Given the description of an element on the screen output the (x, y) to click on. 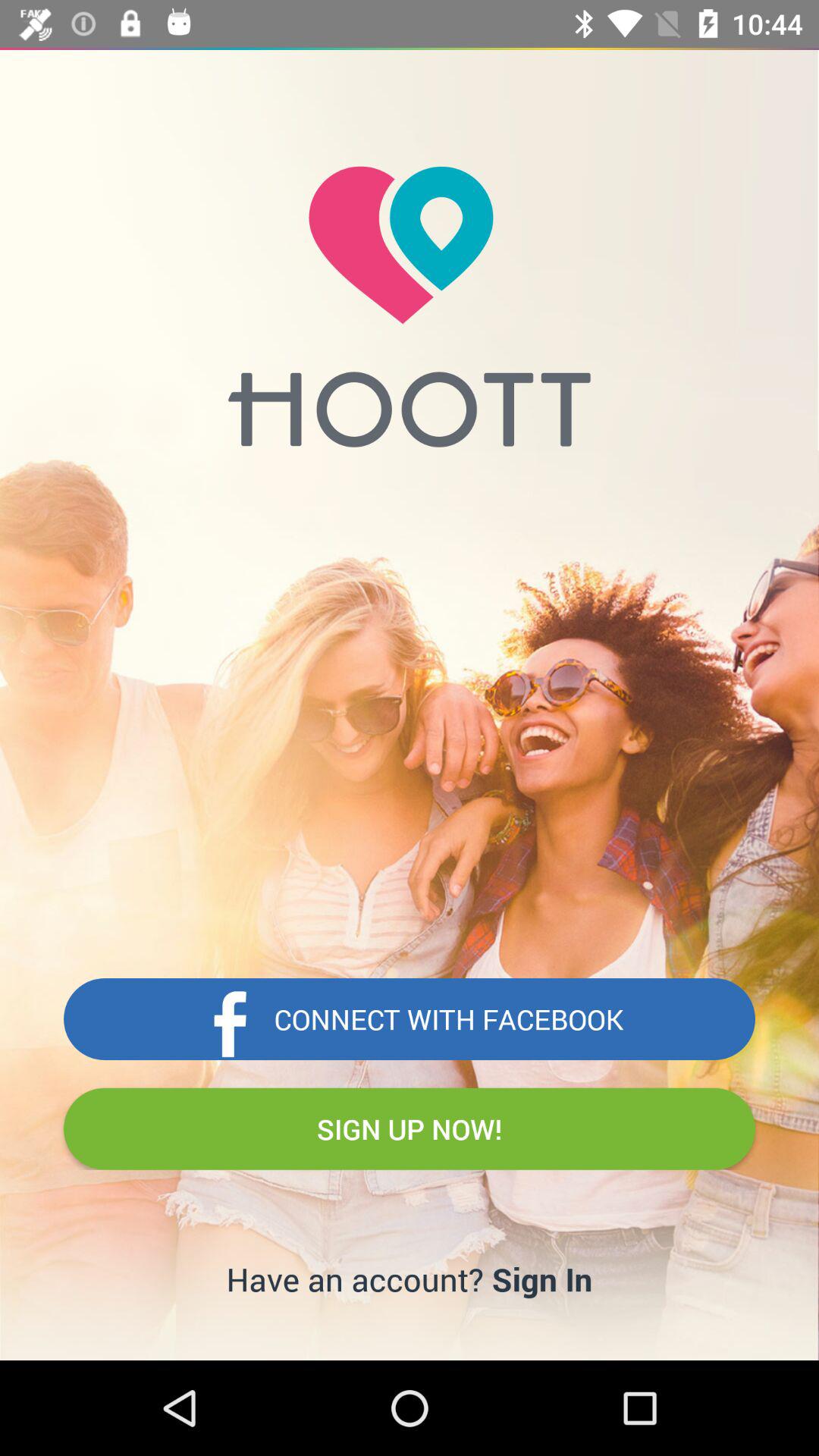
turn on sign up now! (409, 1128)
